Given the description of an element on the screen output the (x, y) to click on. 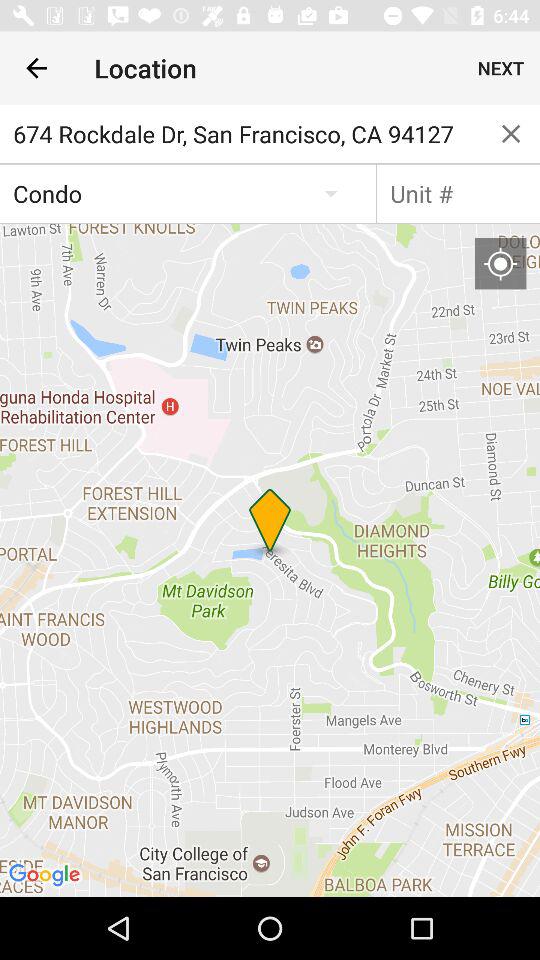
tap the icon next to the location item (500, 67)
